Given the description of an element on the screen output the (x, y) to click on. 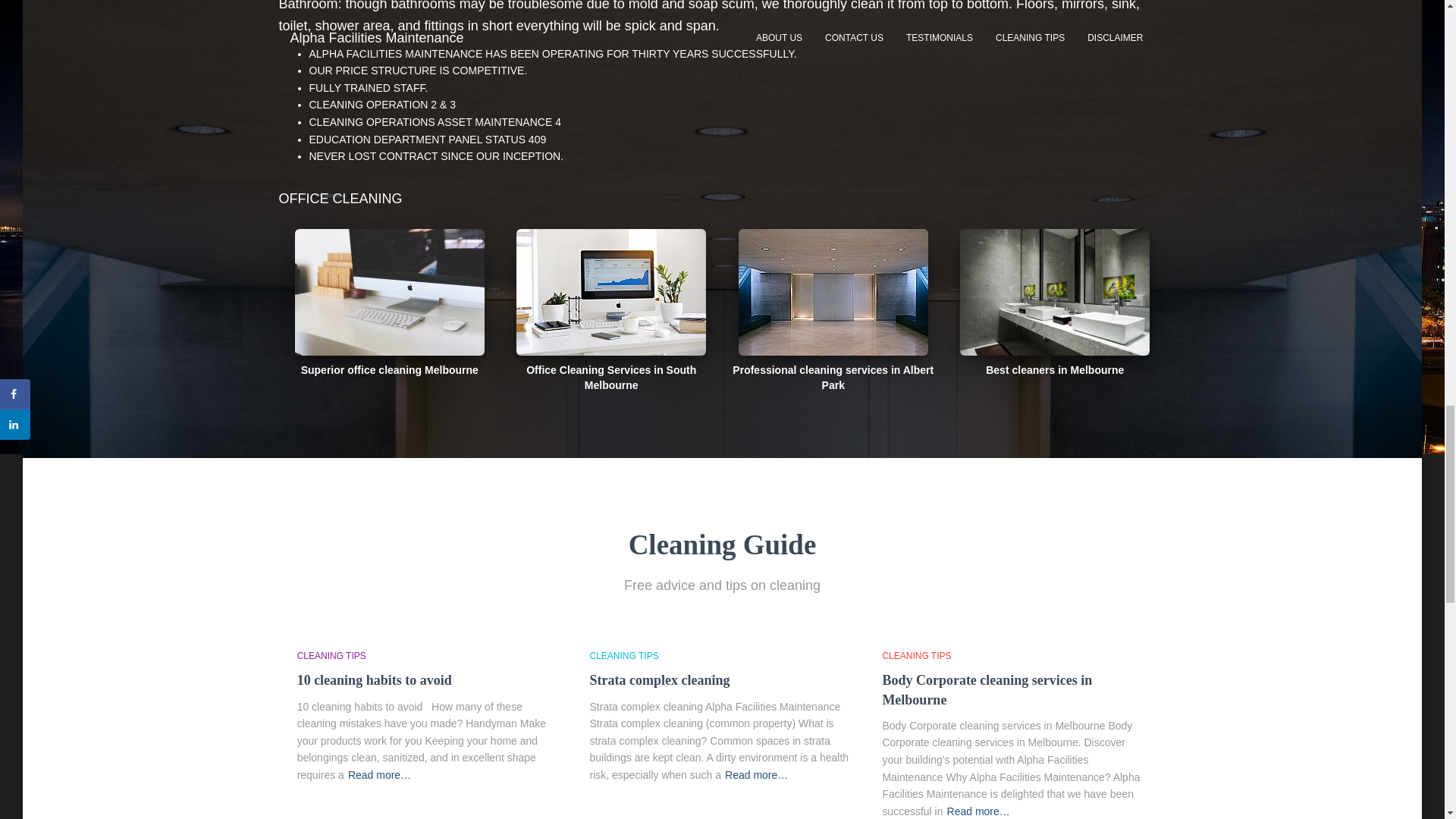
Body Corporate cleaning services in Melbourne (987, 689)
View all posts in Cleaning Tips (624, 655)
CLEANING TIPS (916, 655)
Strata complex cleaning (659, 679)
10 cleaning habits to avoid (374, 679)
CLEANING TIPS (331, 655)
View all posts in Cleaning Tips (331, 655)
10 cleaning habits to avoid (374, 679)
CLEANING TIPS (624, 655)
